Given the description of an element on the screen output the (x, y) to click on. 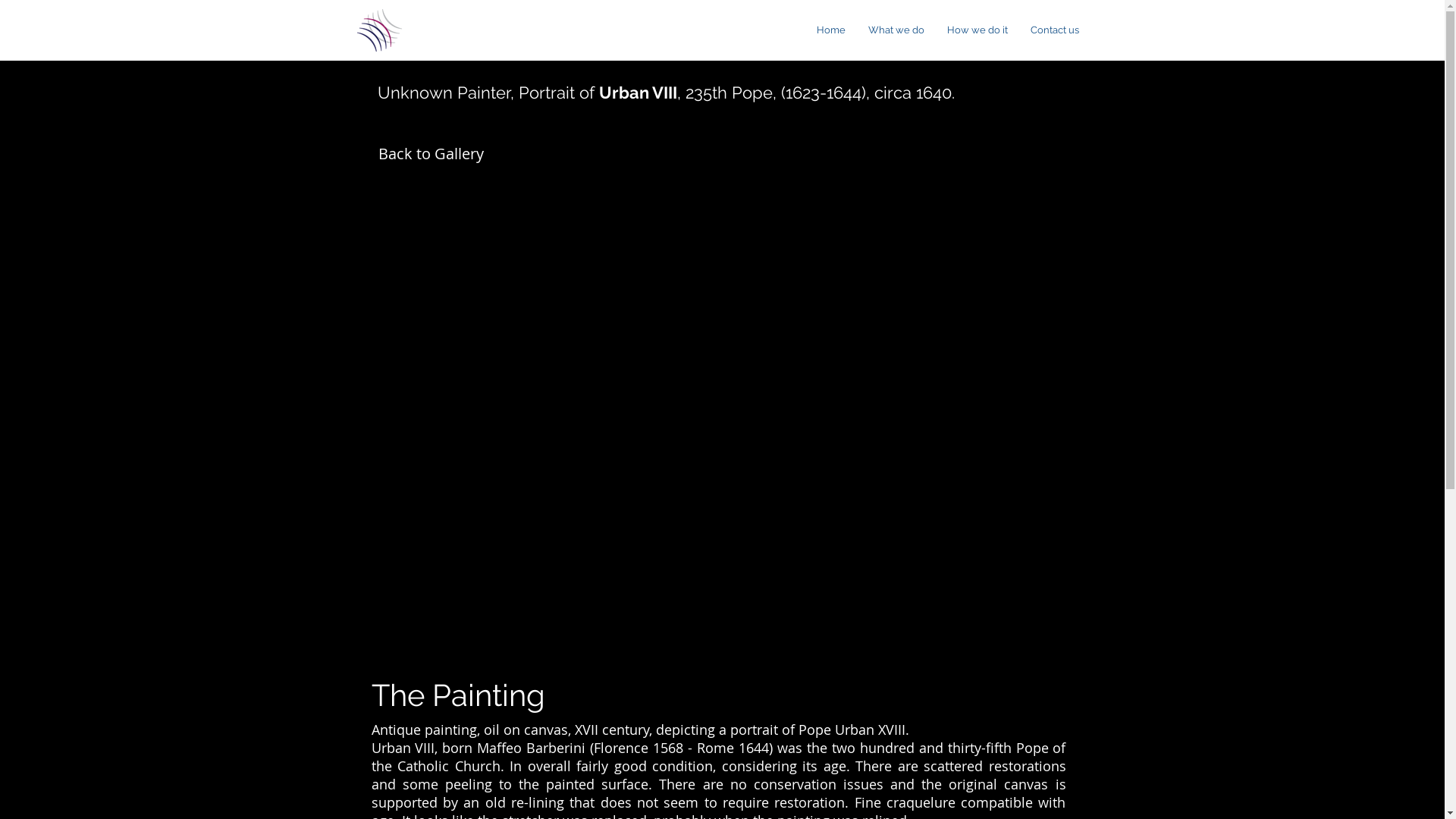
Contact us Element type: text (1054, 29)
Back to Gallery Element type: text (431, 153)
Home Element type: text (830, 29)
Home Element type: hover (380, 30)
Impressive Slideshow Gallery Element type: hover (718, 391)
How we do it Element type: text (977, 29)
What we do Element type: text (895, 29)
